Given the description of an element on the screen output the (x, y) to click on. 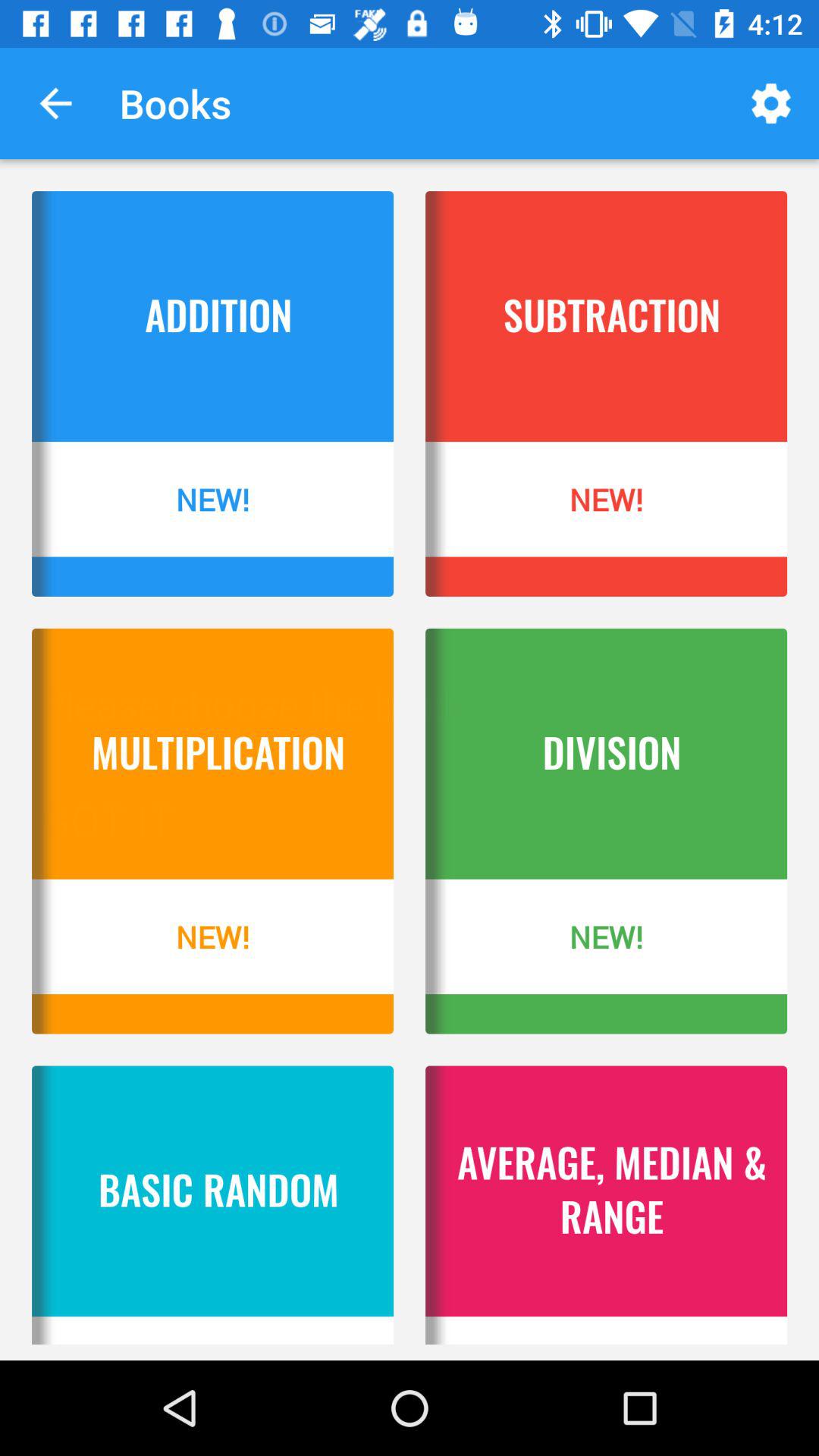
select the app to the right of the books icon (771, 103)
